Given the description of an element on the screen output the (x, y) to click on. 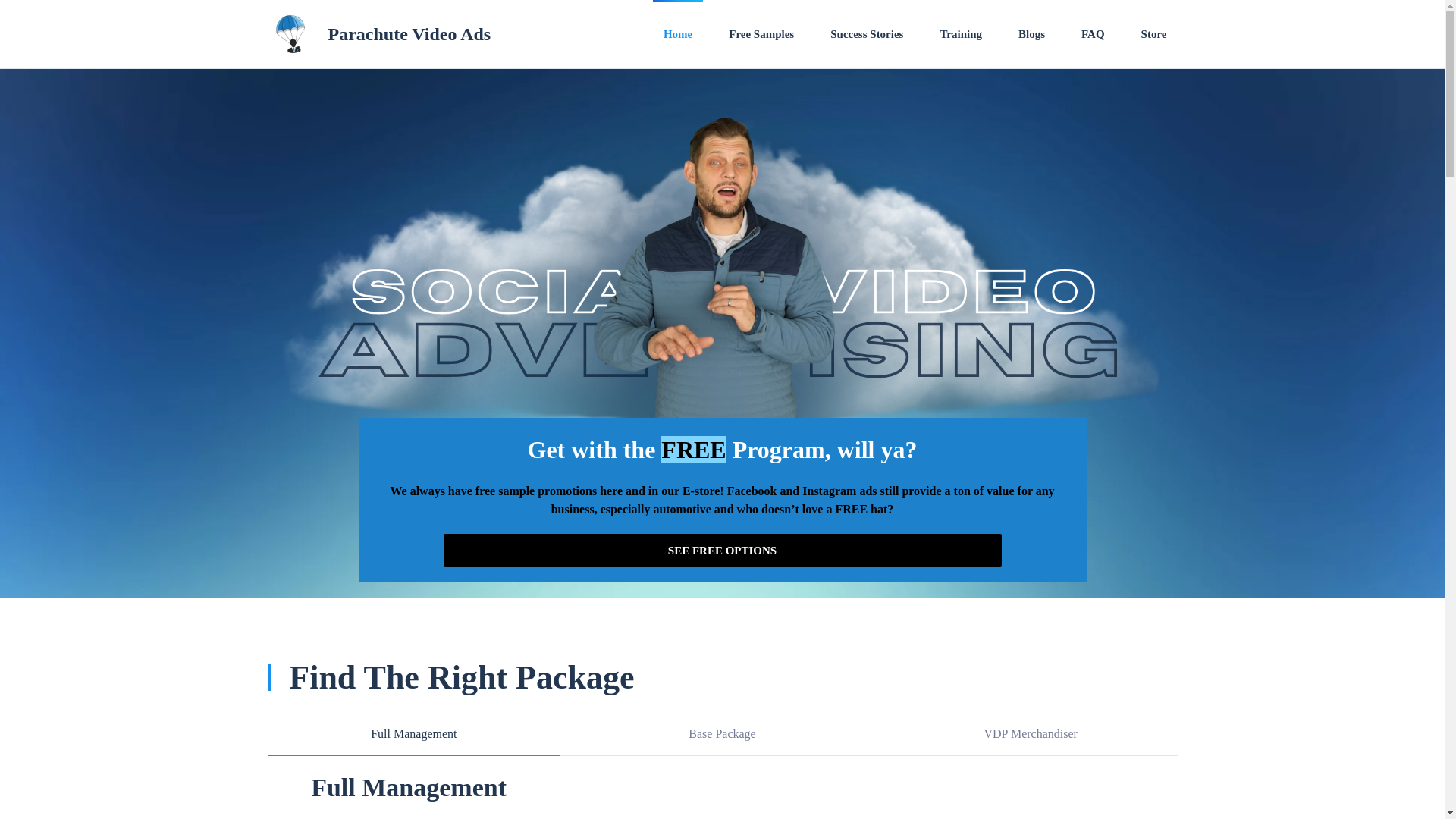
Free Samples (761, 33)
VDP Merchandiser (1030, 734)
Full Management (413, 734)
Parachute Video Ads (408, 33)
Training (960, 33)
SEE FREE OPTIONS (721, 550)
Full Agency Overview Video (878, 795)
Success Stories (866, 33)
Base Package (722, 734)
